Given the description of an element on the screen output the (x, y) to click on. 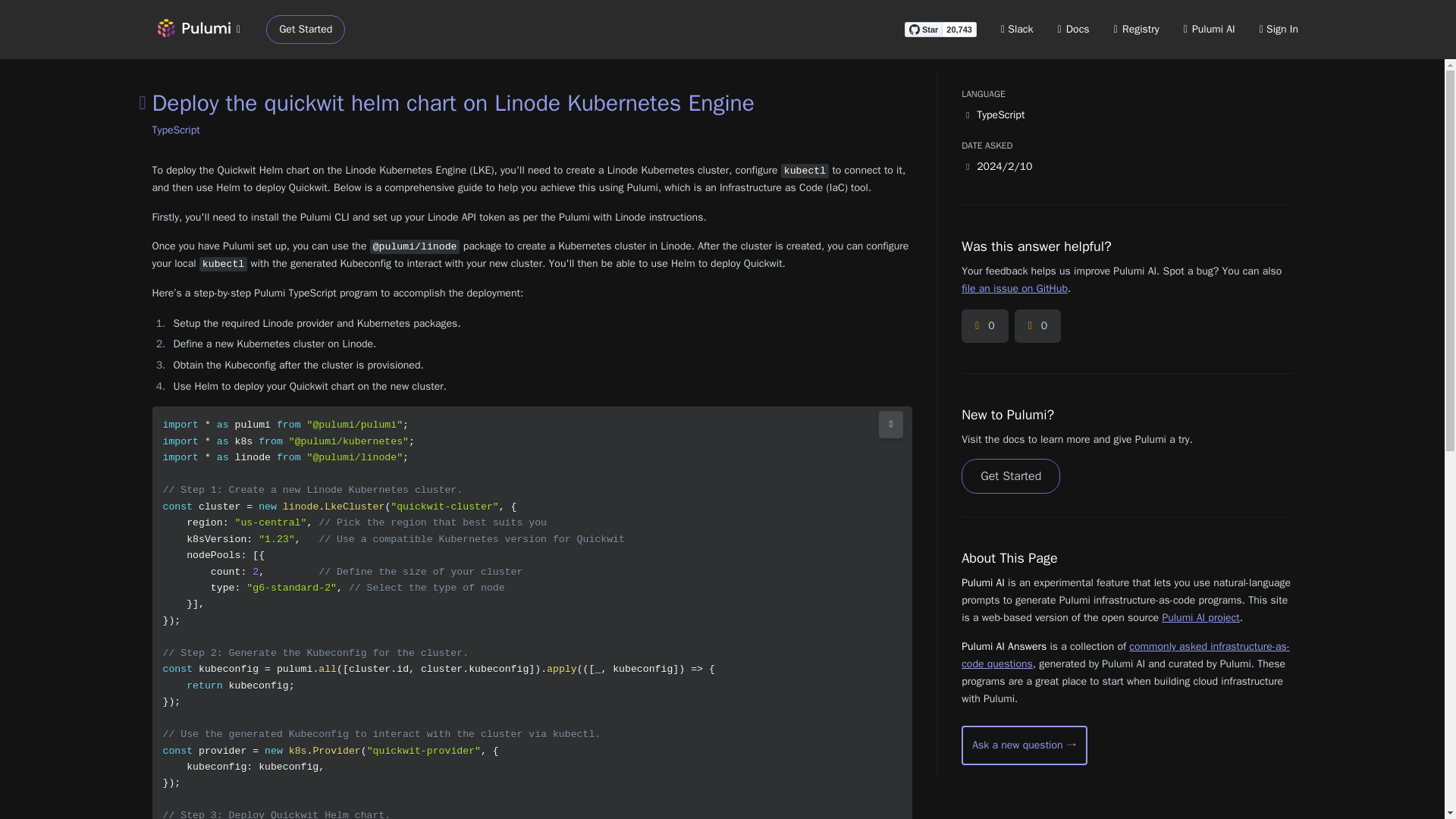
Pulumi AI (1208, 29)
Registry (1135, 29)
Slack (1017, 29)
 Star (923, 29)
Get Started (305, 29)
Upvote this answer (984, 326)
0 (984, 326)
20,743 (959, 29)
Docs (1073, 29)
Downvote this answer (1037, 326)
